Given the description of an element on the screen output the (x, y) to click on. 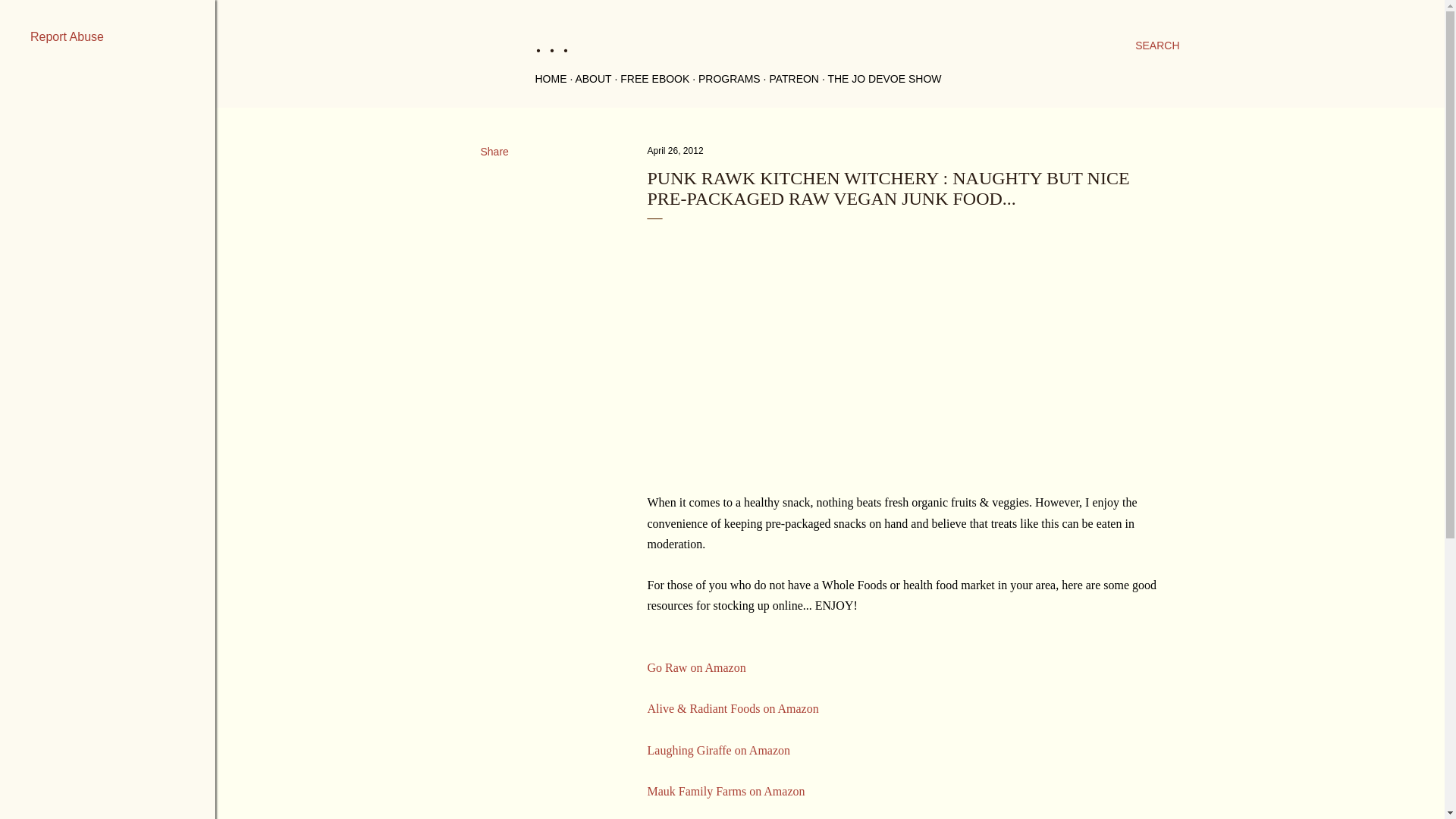
Mauk Family Farms on Amazon (726, 790)
Go Raw on Amazon (696, 667)
SEARCH (1157, 45)
April 26, 2012 (675, 150)
THE JO DEVOE SHOW (883, 78)
ABOUT (593, 78)
Laughing Giraffe on Amazon (718, 749)
PATREON (793, 78)
FREE EBOOK (654, 78)
Share (494, 151)
